Given the description of an element on the screen output the (x, y) to click on. 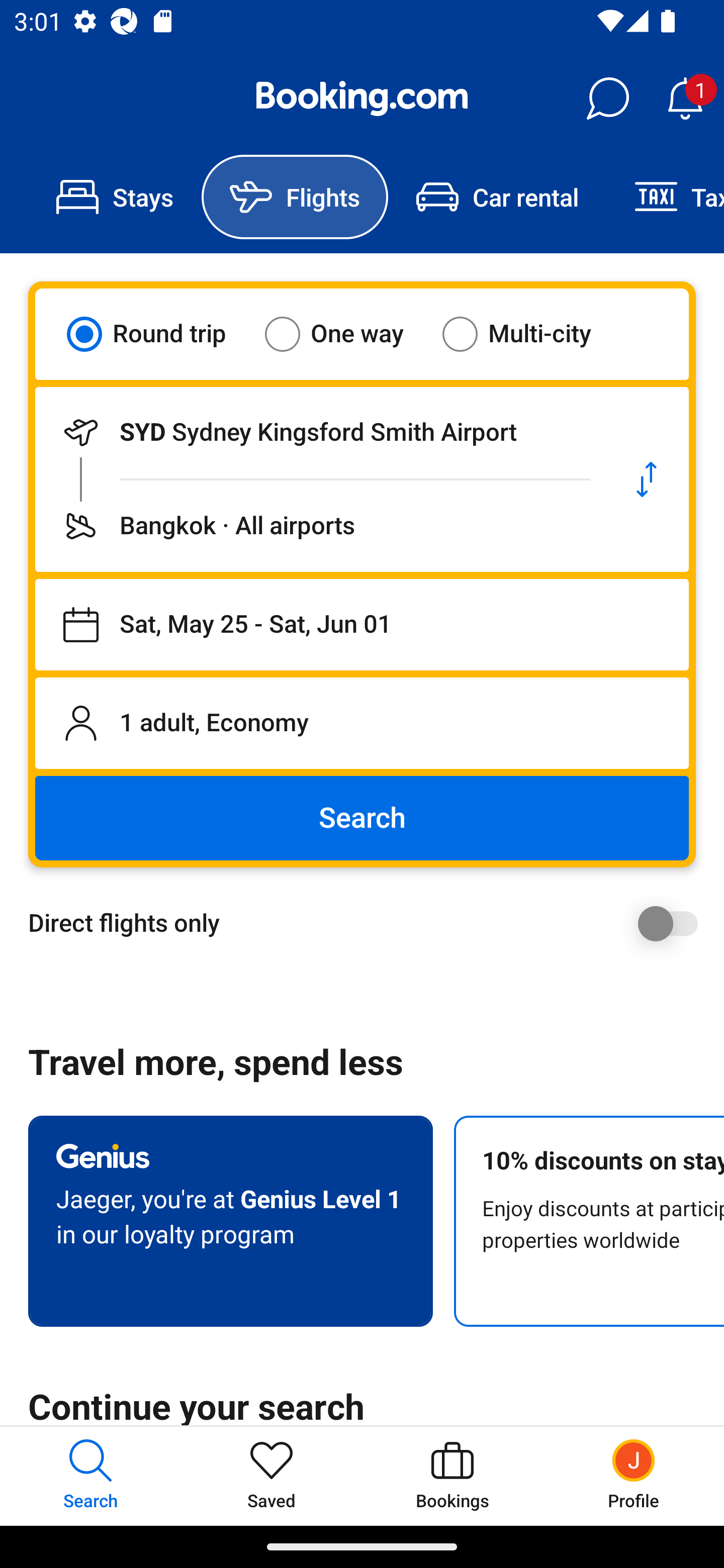
Messages (607, 98)
Notifications (685, 98)
Stays (114, 197)
Flights (294, 197)
Car rental (497, 197)
Taxi (665, 197)
One way (346, 333)
Multi-city (528, 333)
Departing from SYD Sydney Kingsford Smith Airport (319, 432)
Swap departure location and destination (646, 479)
Flying to Bangkok · All airports (319, 525)
Departing on Sat, May 25, returning on Sat, Jun 01 (361, 624)
1 adult, Economy (361, 722)
Search (361, 818)
Direct flights only (369, 923)
Saved (271, 1475)
Bookings (452, 1475)
Profile (633, 1475)
